Given the description of an element on the screen output the (x, y) to click on. 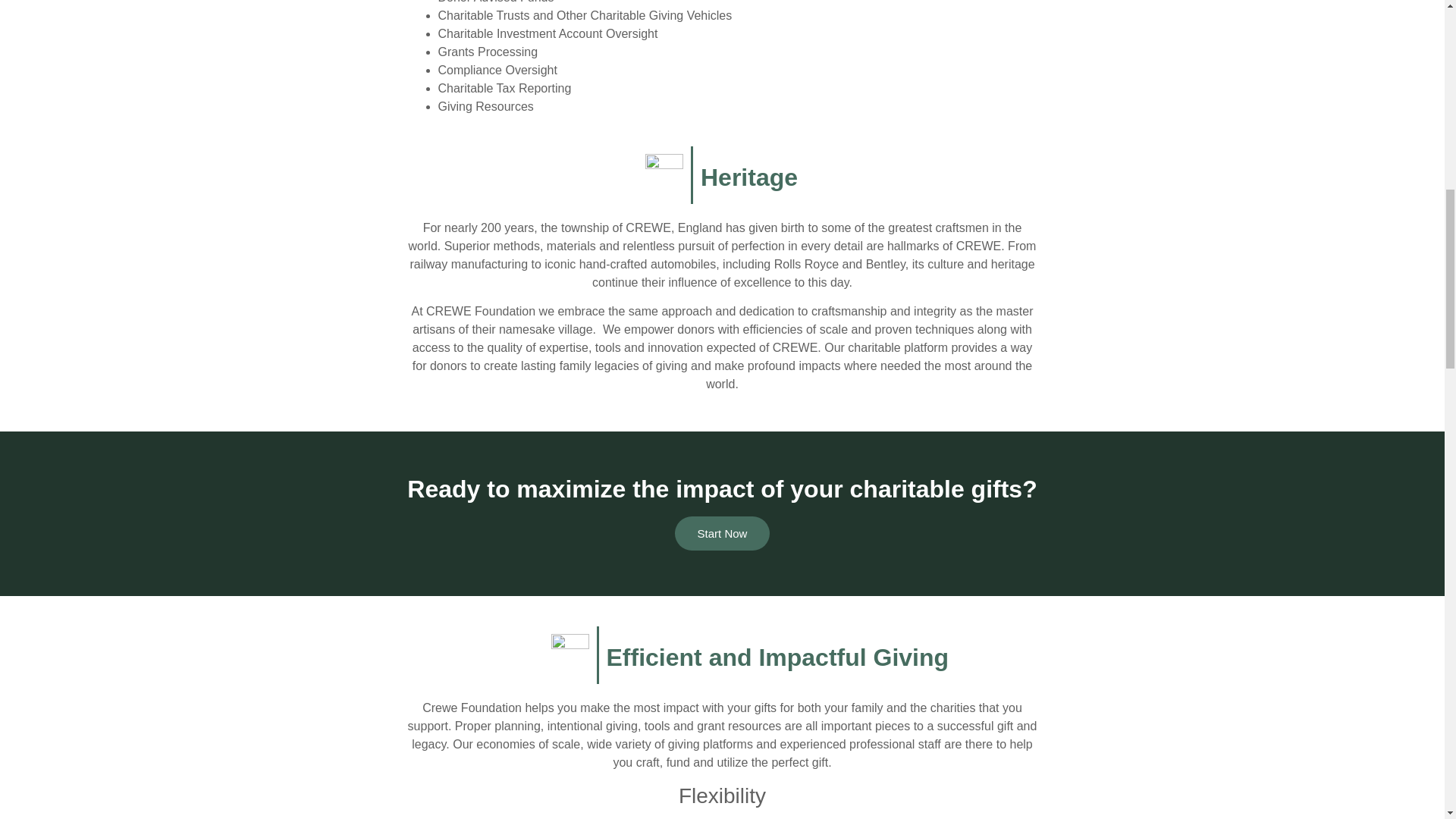
Start Now (722, 533)
